Given the description of an element on the screen output the (x, y) to click on. 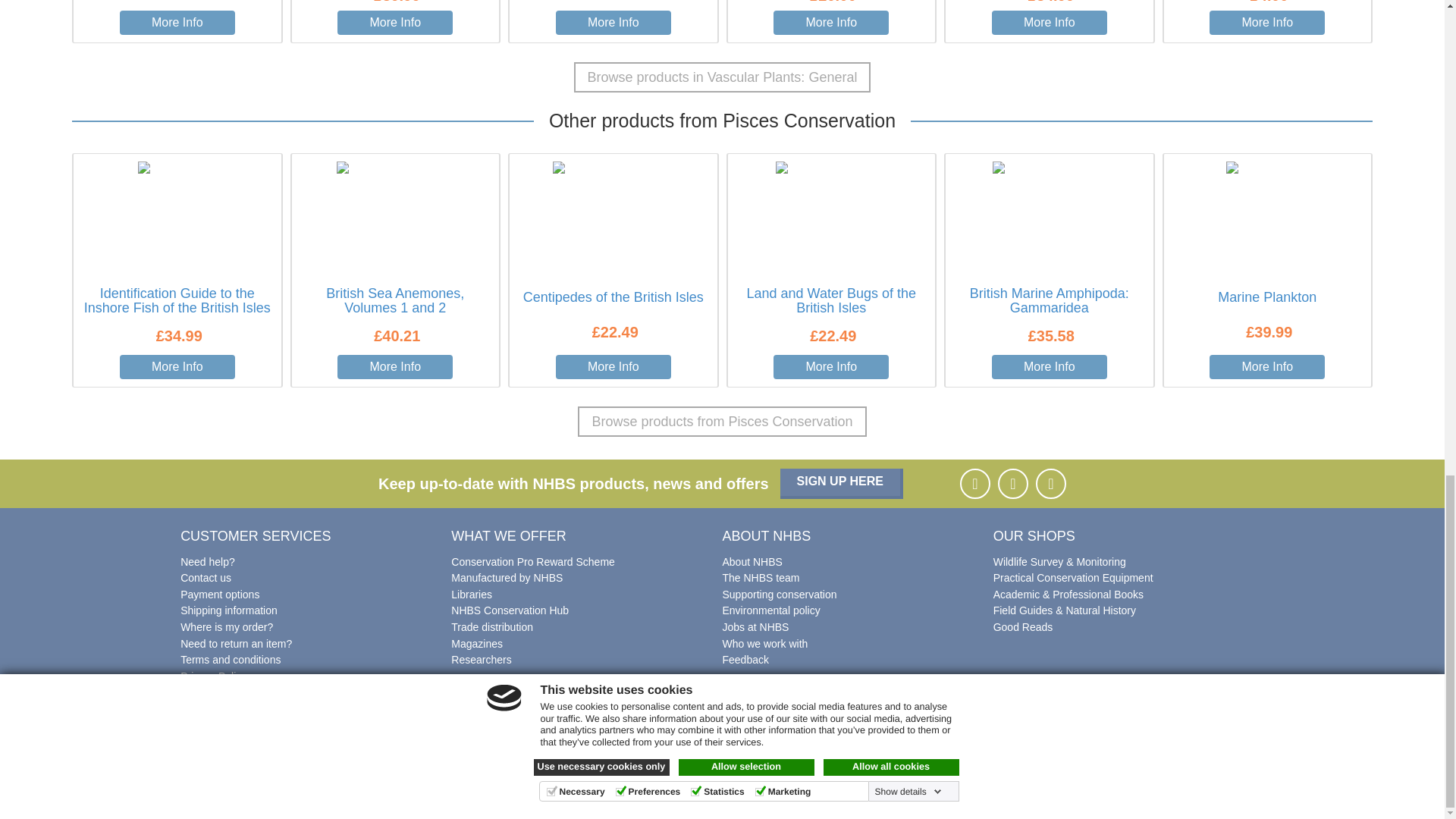
Sign up here (841, 483)
